Given the description of an element on the screen output the (x, y) to click on. 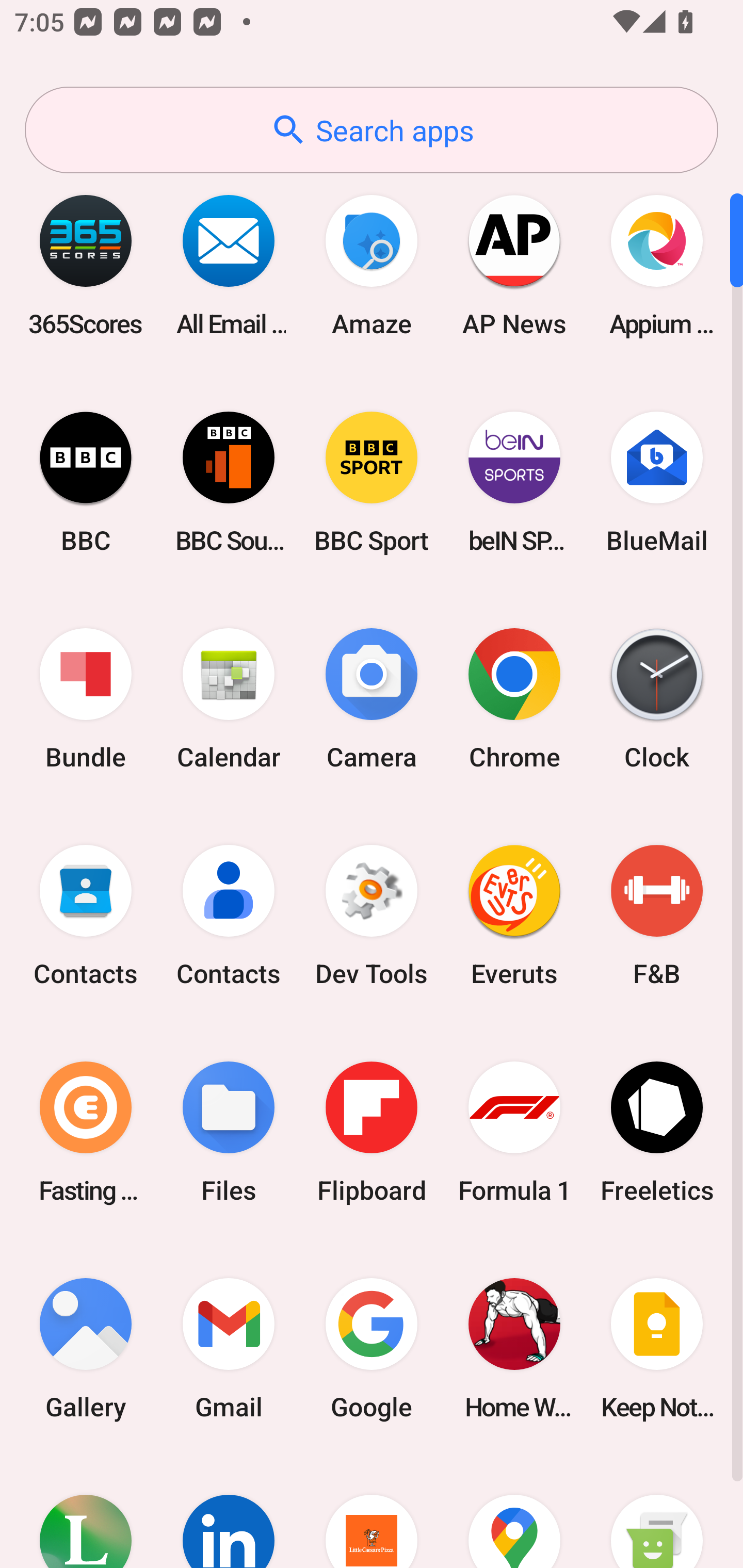
  Search apps (371, 130)
365Scores (85, 264)
All Email Connect (228, 264)
Amaze (371, 264)
AP News (514, 264)
Appium Settings (656, 264)
BBC (85, 482)
BBC Sounds (228, 482)
BBC Sport (371, 482)
beIN SPORTS (514, 482)
BlueMail (656, 482)
Bundle (85, 699)
Calendar (228, 699)
Camera (371, 699)
Chrome (514, 699)
Clock (656, 699)
Contacts (85, 915)
Contacts (228, 915)
Dev Tools (371, 915)
Everuts (514, 915)
F&B (656, 915)
Fasting Coach (85, 1131)
Files (228, 1131)
Flipboard (371, 1131)
Formula 1 (514, 1131)
Freeletics (656, 1131)
Gallery (85, 1348)
Gmail (228, 1348)
Google (371, 1348)
Home Workout (514, 1348)
Keep Notes (656, 1348)
Lifesum (85, 1512)
LinkedIn (228, 1512)
Little Caesars Pizza (371, 1512)
Maps (514, 1512)
Messaging (656, 1512)
